Given the description of an element on the screen output the (x, y) to click on. 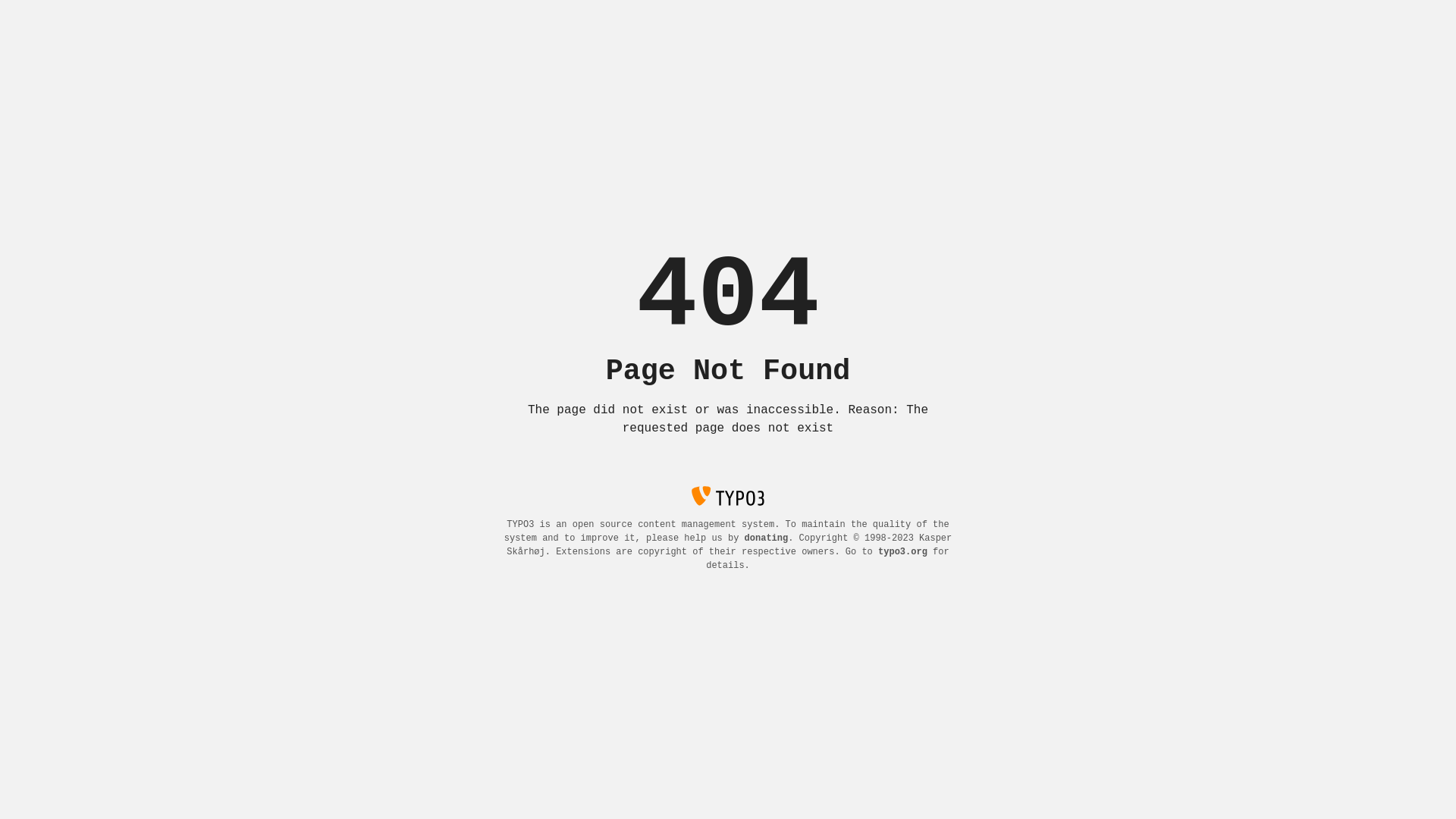
typo3.org Element type: text (902, 551)
donating Element type: text (766, 538)
